Given the description of an element on the screen output the (x, y) to click on. 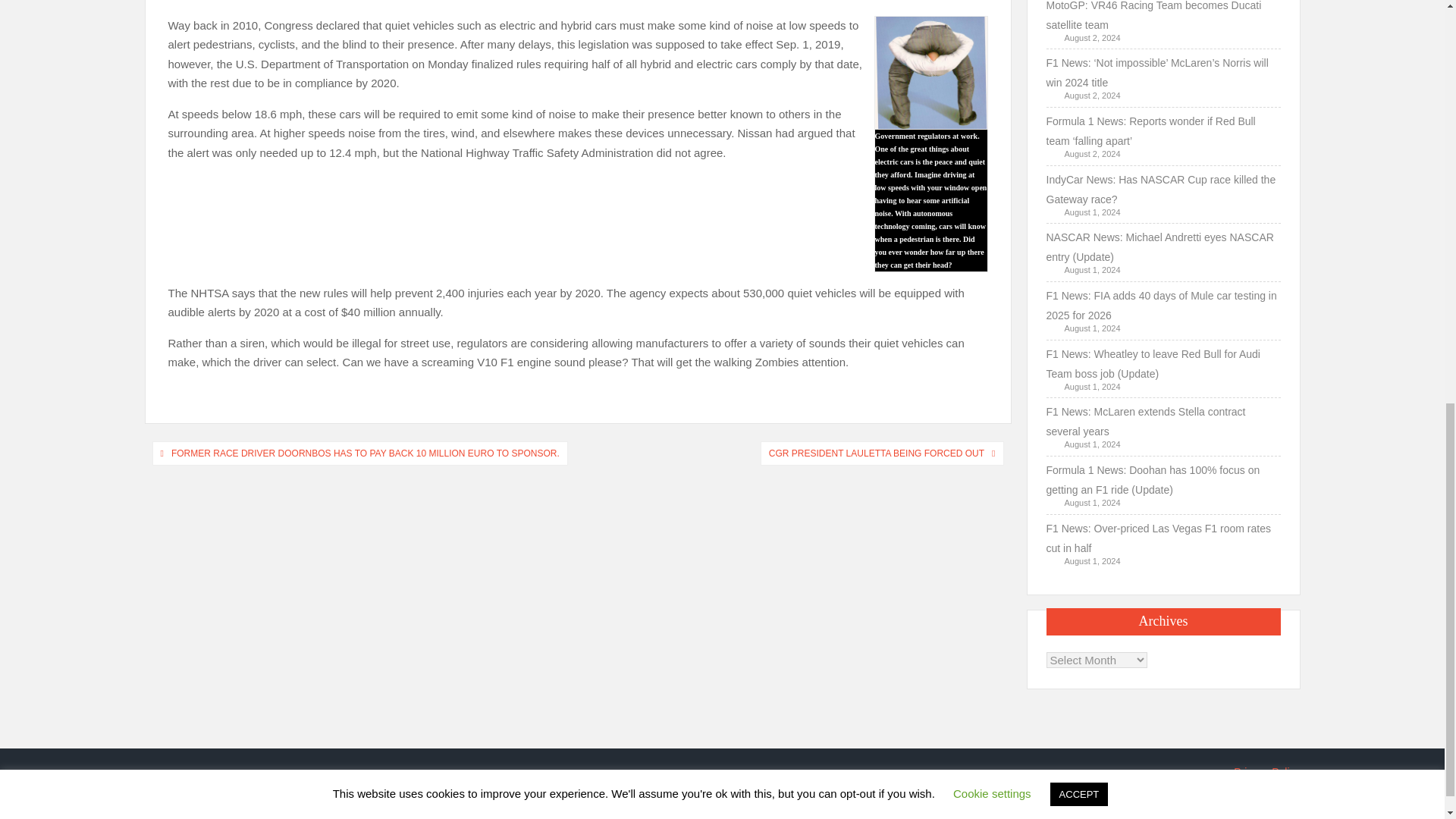
Email (221, 2)
Copy Link (242, 2)
Facebook (178, 2)
Social Media Auto Publish (665, 810)
Twitter (200, 2)
Outlook.com (264, 2)
